Given the description of an element on the screen output the (x, y) to click on. 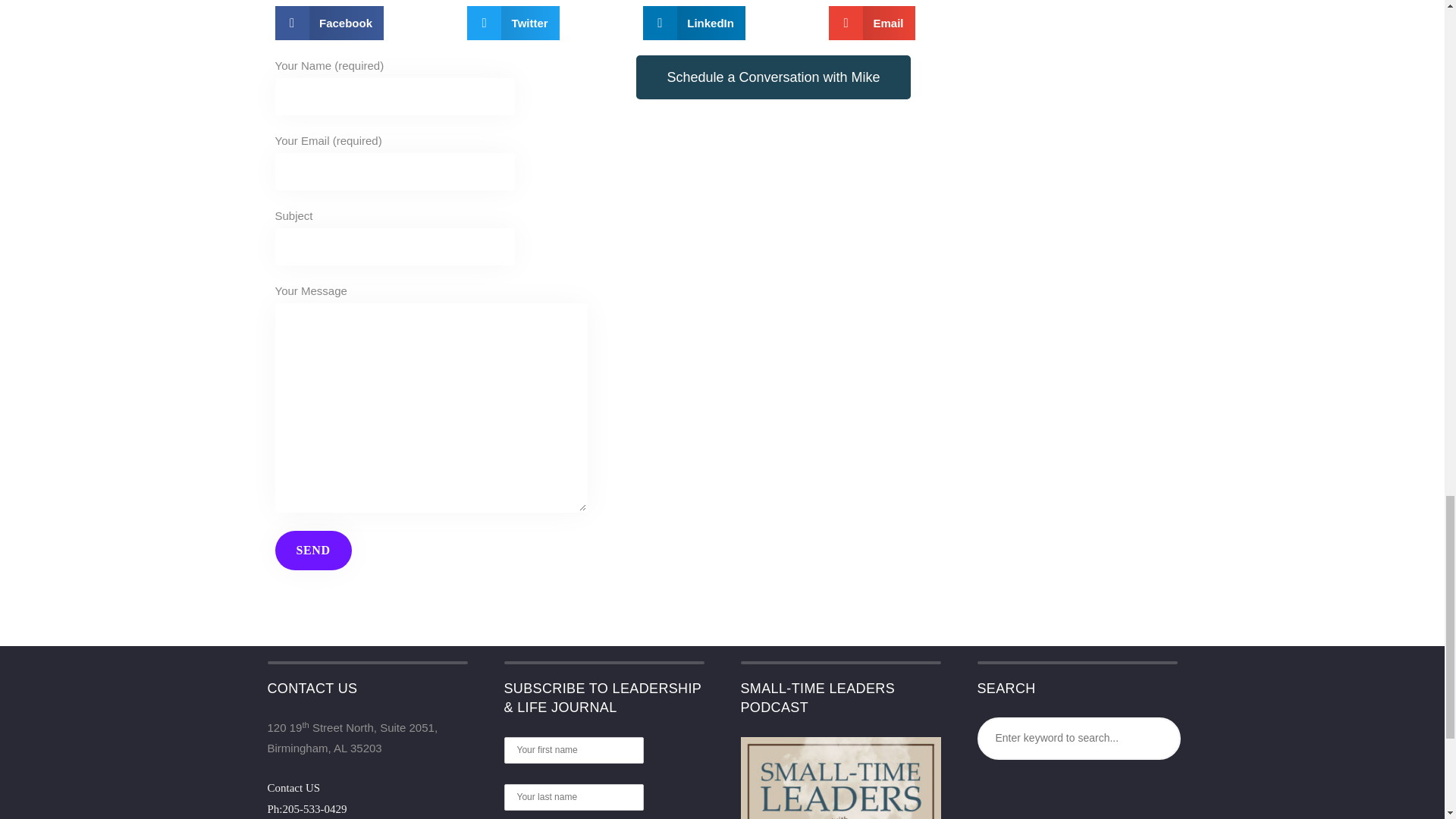
Schedule a Conversation with Mike (773, 77)
Send (312, 550)
Send (312, 550)
